Given the description of an element on the screen output the (x, y) to click on. 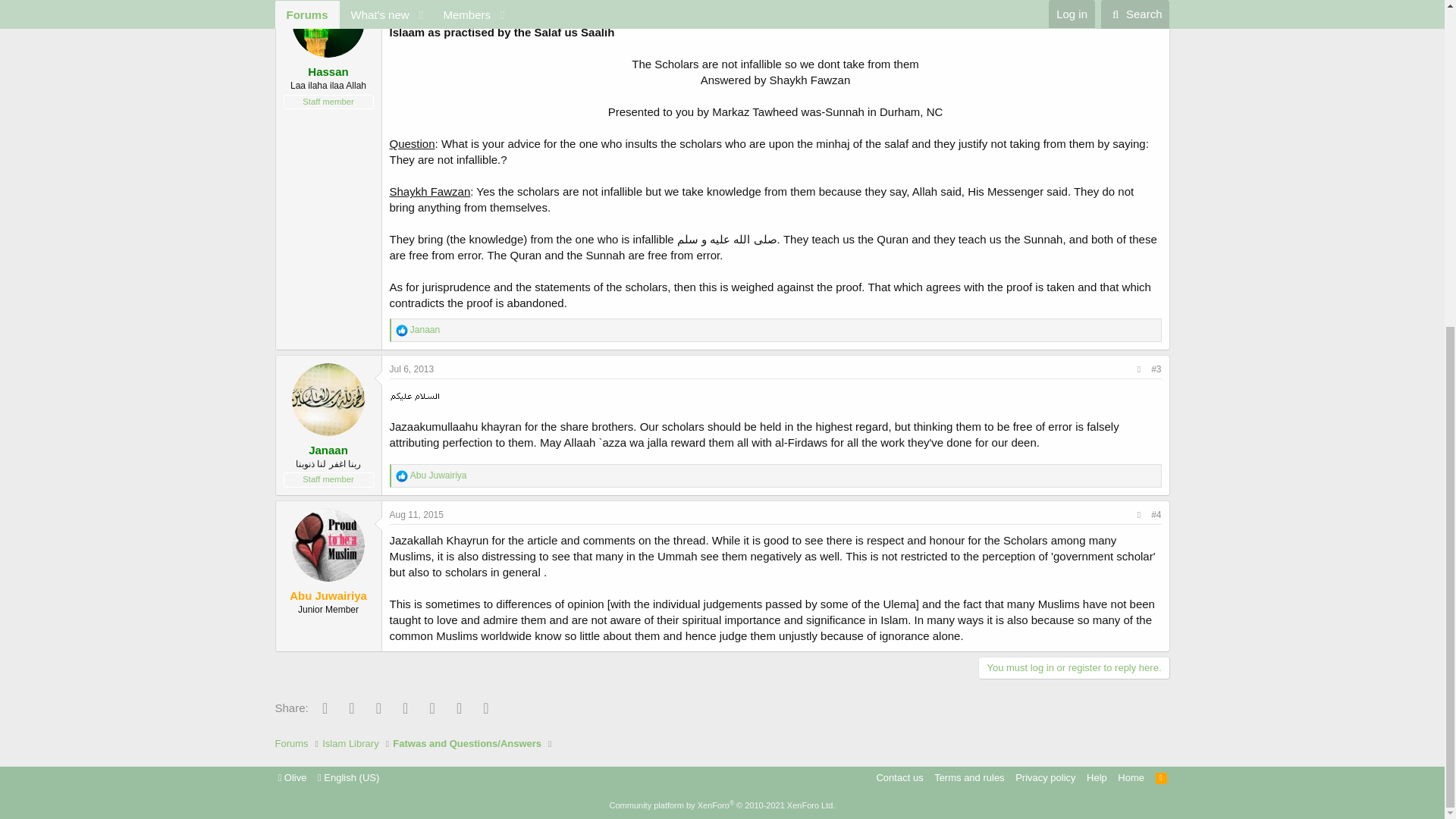
Language chooser (347, 777)
Style chooser (291, 777)
assalam    :salam: (414, 395)
Like (401, 476)
Aug 11, 2015 at 2:39 PM (417, 514)
Jul 6, 2013 at 8:56 PM (411, 368)
Like (401, 330)
RSS (1161, 777)
